Given the description of an element on the screen output the (x, y) to click on. 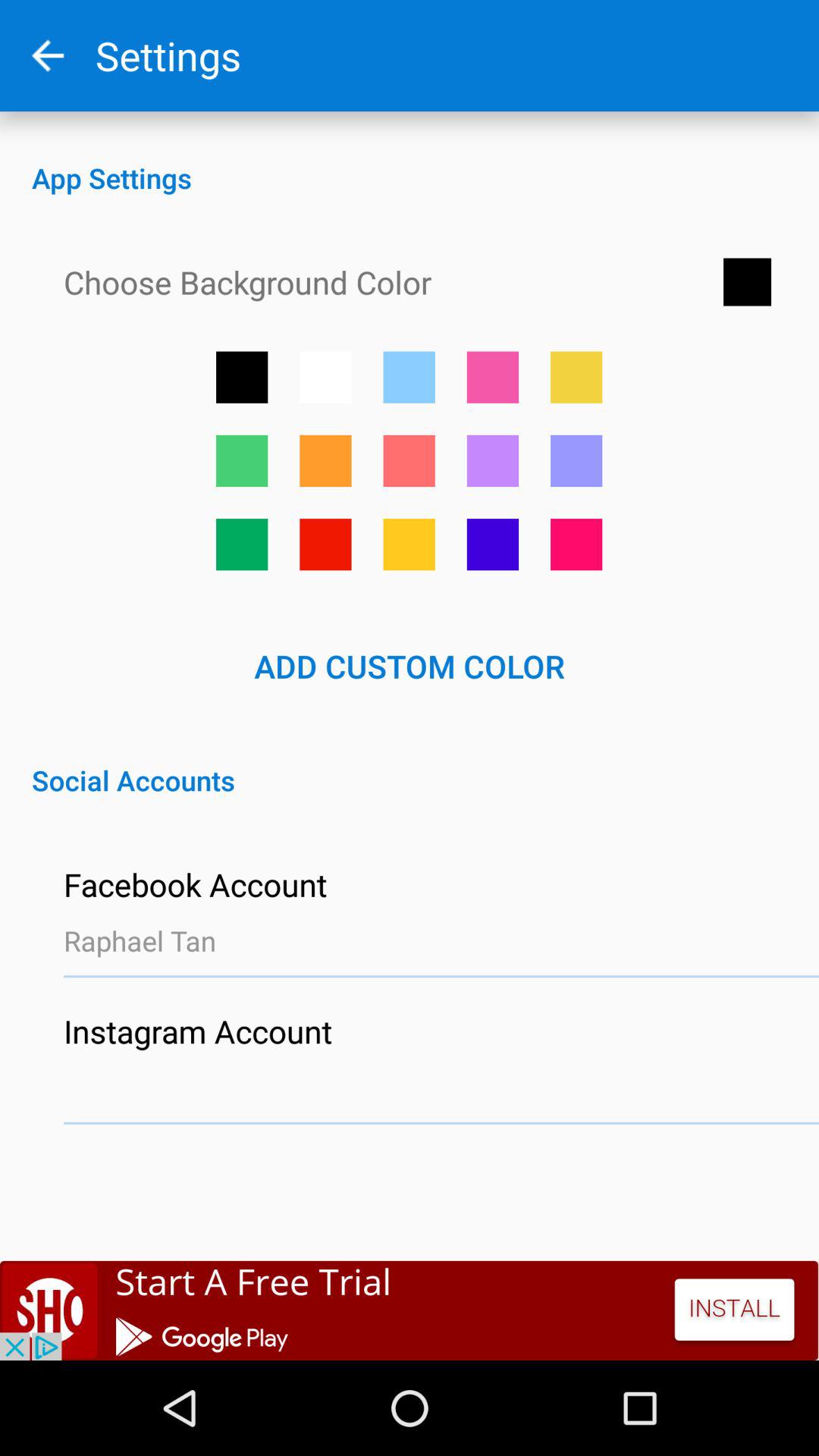
choose red background color (325, 544)
